Given the description of an element on the screen output the (x, y) to click on. 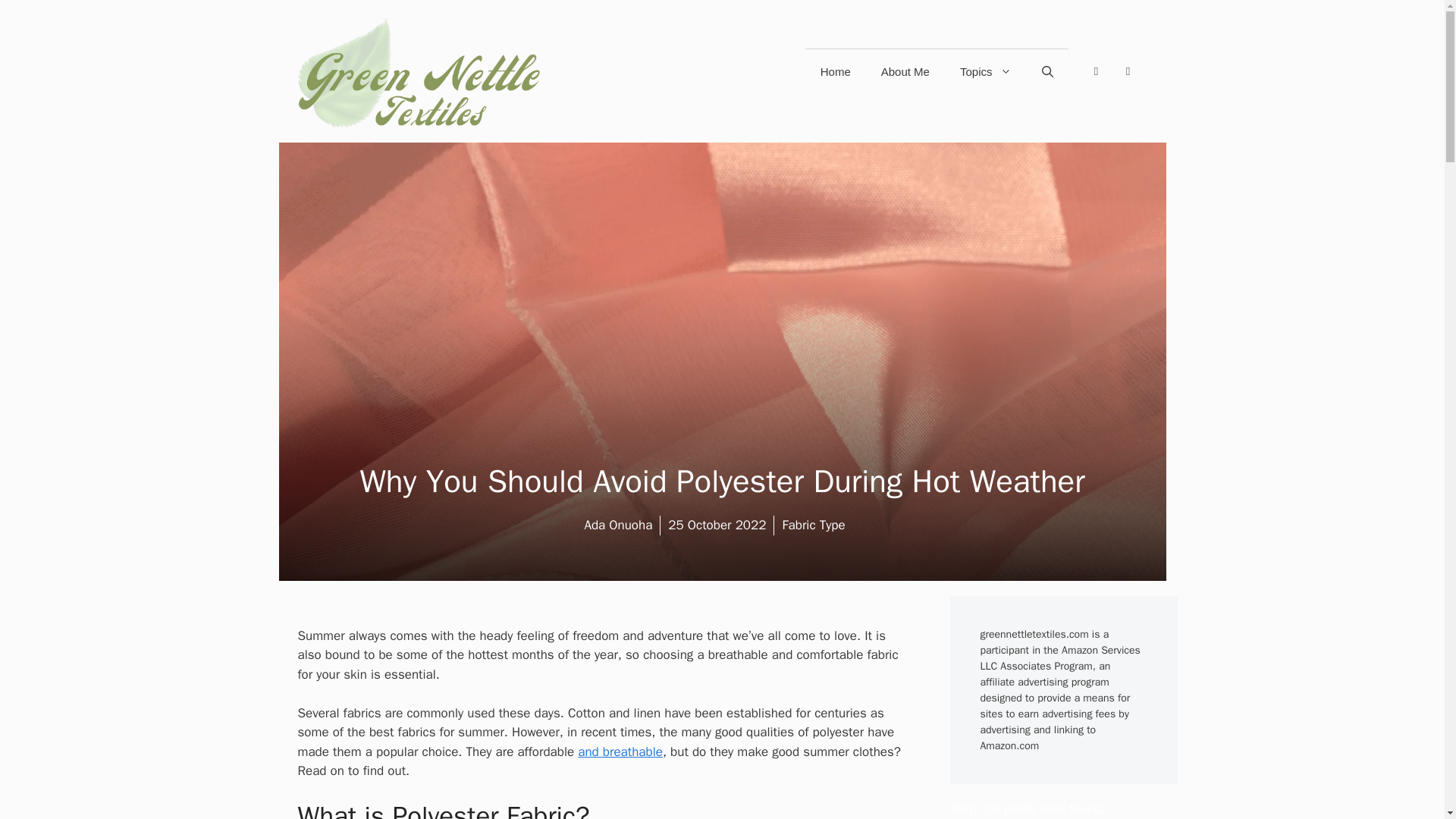
Facebook (1095, 71)
Topics (985, 72)
and breathable (620, 751)
Twitter (1127, 71)
Home (835, 72)
Green Nettle Textiles (418, 71)
About Me (905, 72)
Green Nettle Textiles (418, 70)
